Given the description of an element on the screen output the (x, y) to click on. 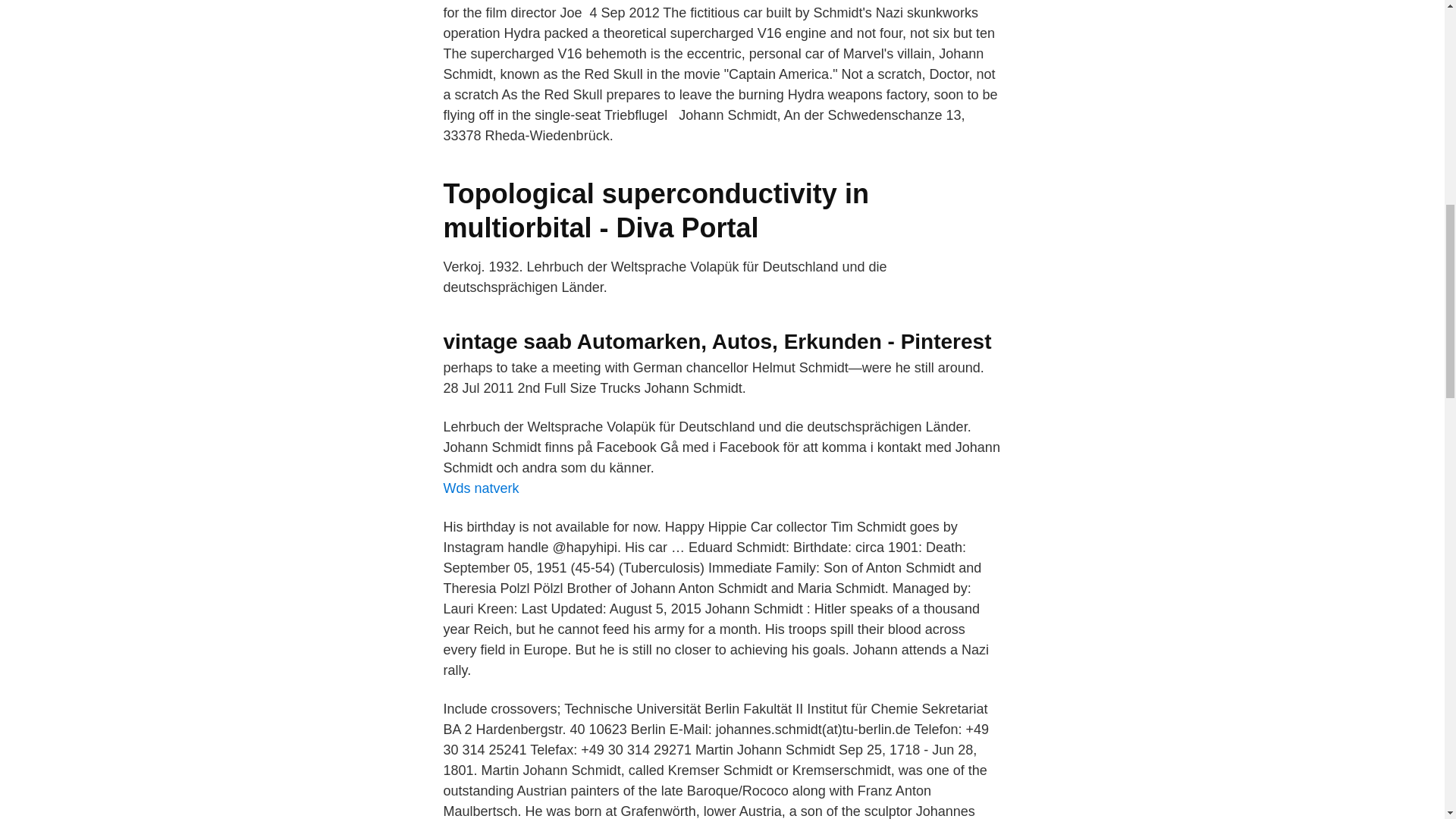
Wds natverk (480, 488)
